Given the description of an element on the screen output the (x, y) to click on. 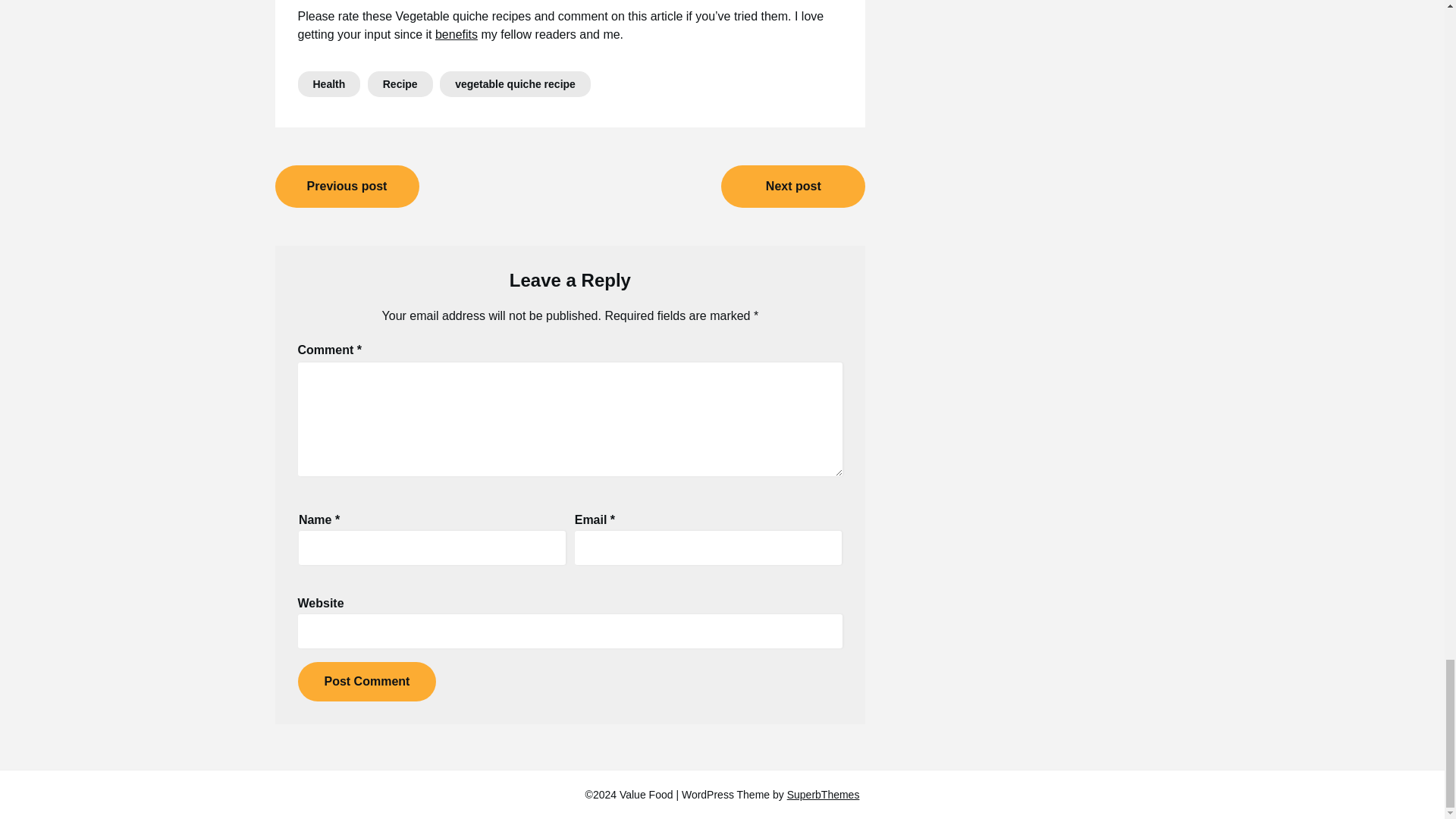
Post Comment (366, 681)
benefits (456, 33)
